Given the description of an element on the screen output the (x, y) to click on. 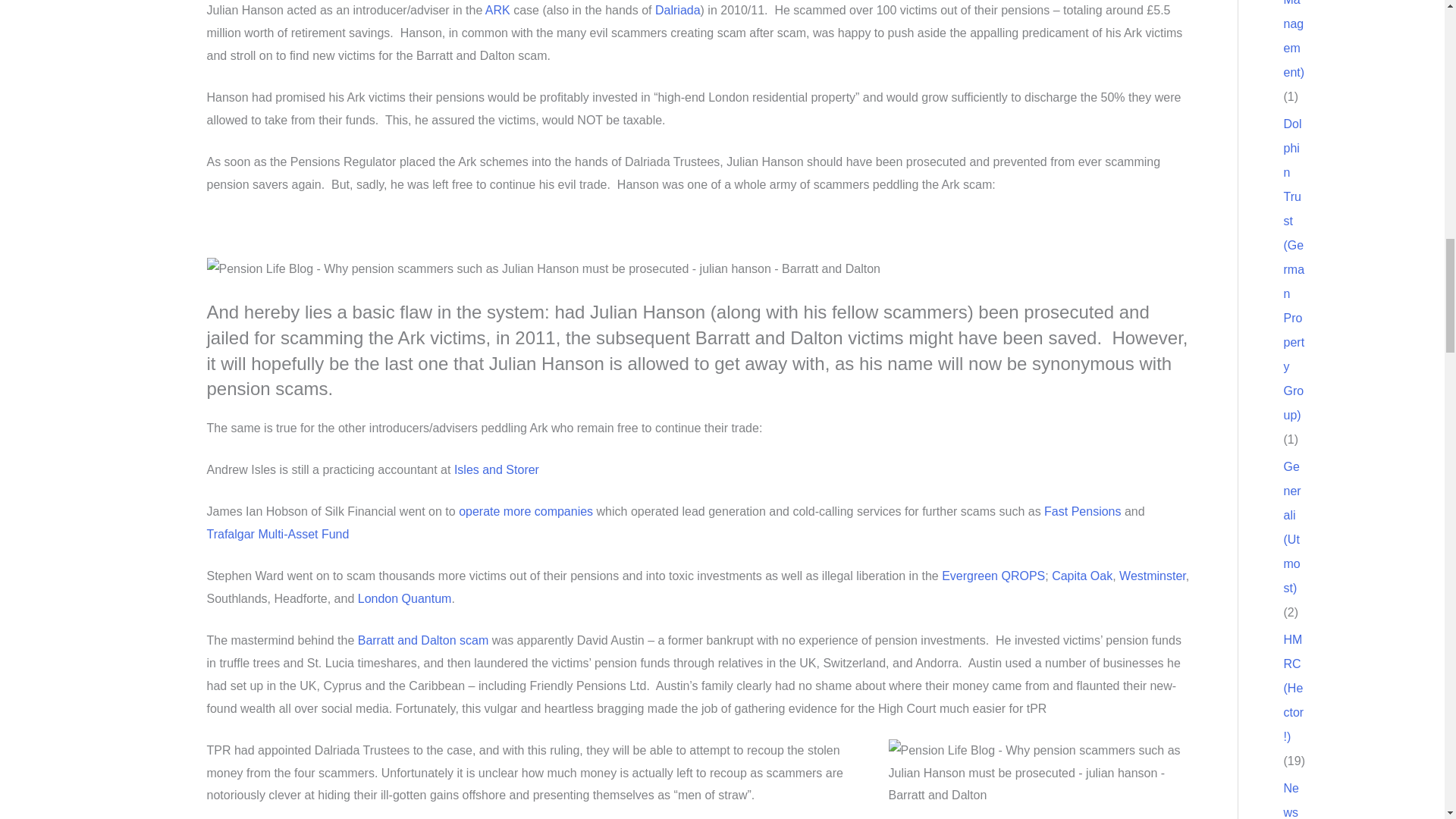
London Quantum (404, 598)
ARK (497, 10)
Barratt and Dalton scam (423, 640)
operate more companies (525, 511)
Capita Oak (1081, 575)
Isles and Storer (496, 469)
Westminster (1152, 575)
Trafalgar Multi-Asset Fund (277, 533)
Evergreen QROPS (993, 575)
Fast Pensions (1082, 511)
Dalriada (677, 10)
